Given the description of an element on the screen output the (x, y) to click on. 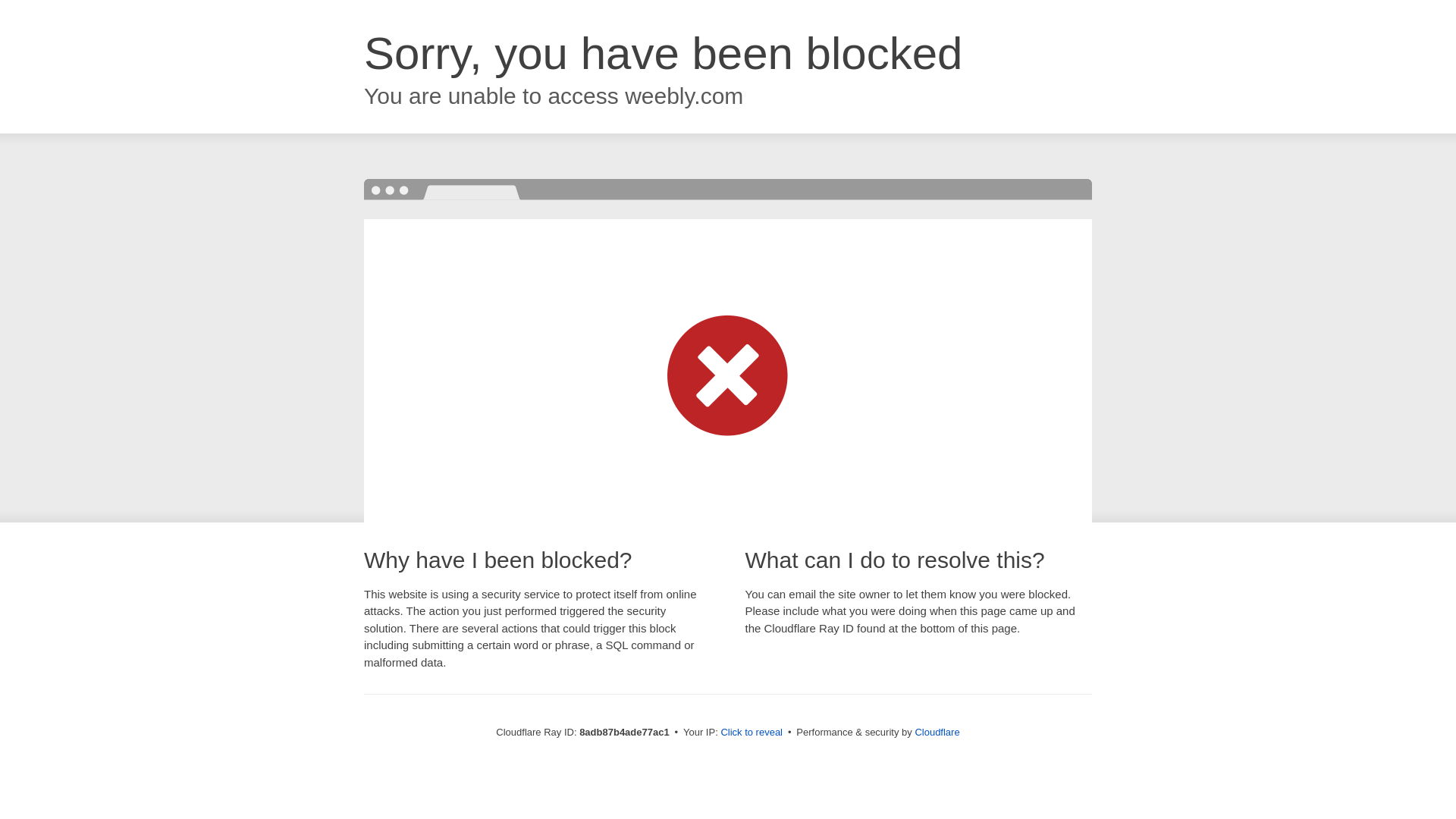
Click to reveal (751, 732)
Cloudflare (936, 731)
